Given the description of an element on the screen output the (x, y) to click on. 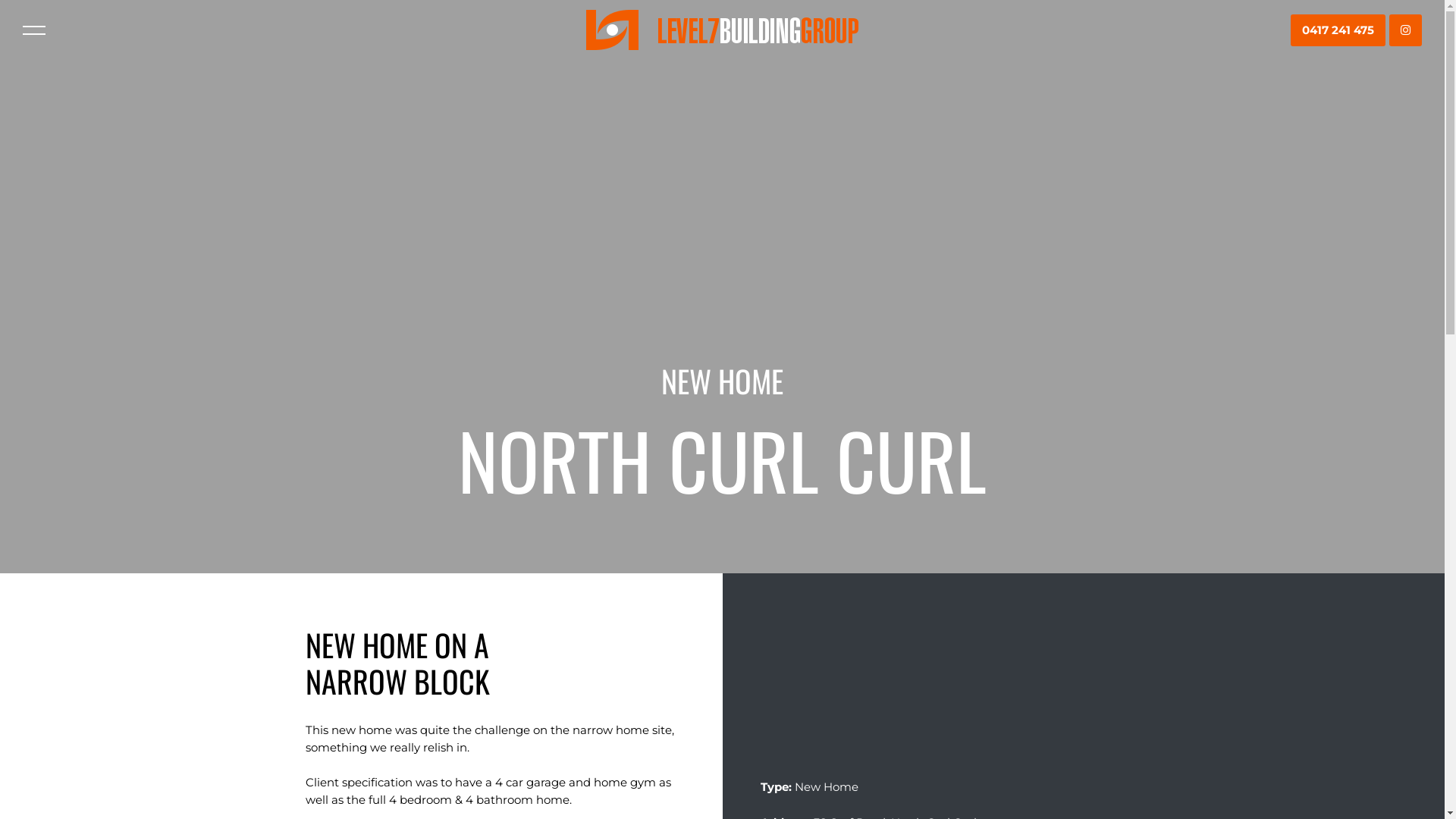
Level 7 Building Group Narrabeen on Instagram Element type: hover (1405, 30)
0417 241 475 Element type: text (1337, 30)
